Given the description of an element on the screen output the (x, y) to click on. 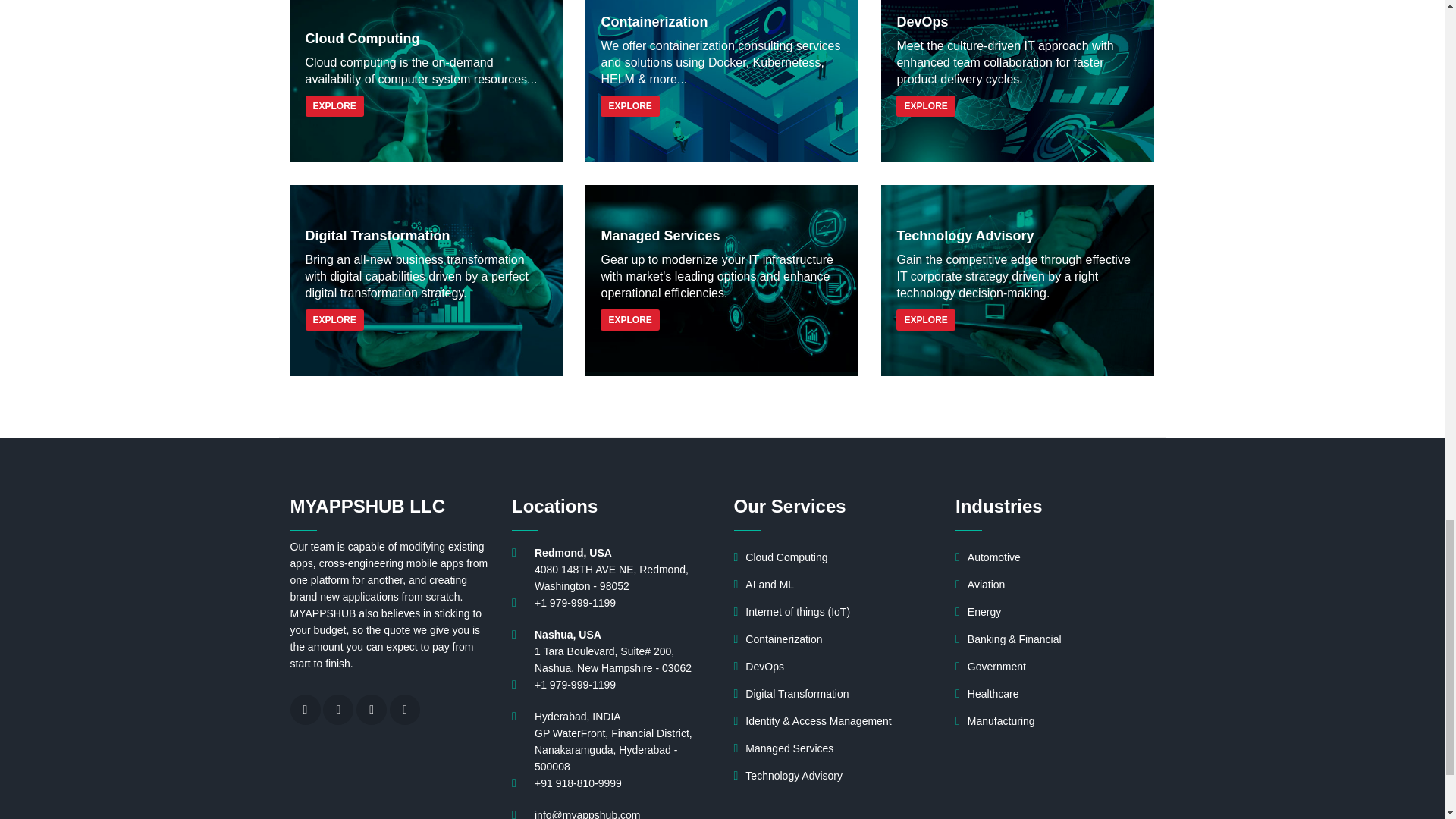
EXPLORE (333, 106)
EXPLORE (925, 106)
DevOps (1017, 81)
Cloud Computing (425, 81)
Containerization (722, 81)
EXPLORE (629, 106)
